Given the description of an element on the screen output the (x, y) to click on. 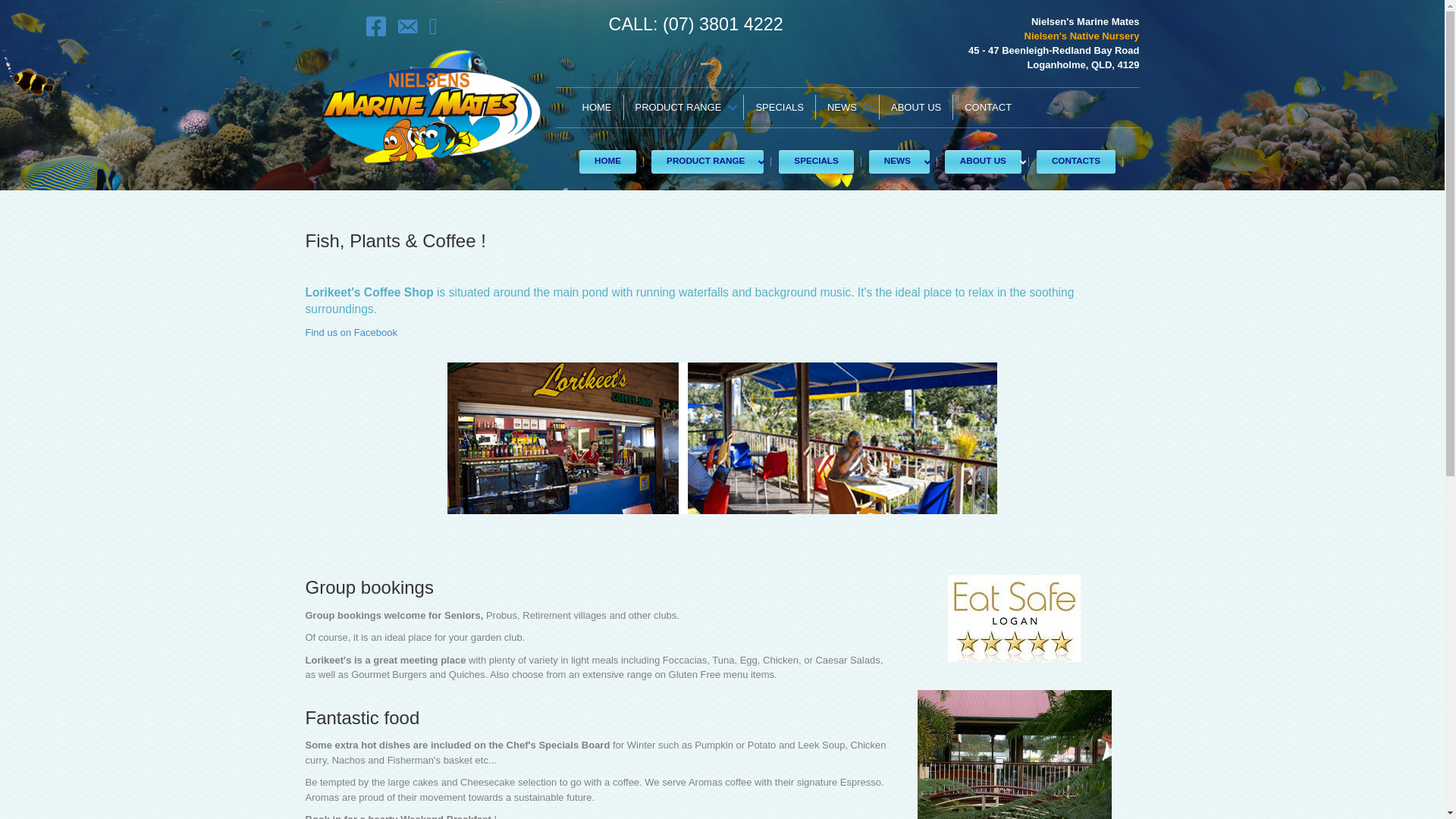
Nielsen's Native Nursery Element type: text (1081, 35)
eat_safe_logan Element type: hover (1013, 618)
PRODUCT RANGE Element type: text (707, 161)
HOME Element type: text (596, 106)
NEWS Element type: text (899, 161)
NEWS Element type: text (846, 106)
Find us on Facebook Element type: text (350, 332)
HOME Element type: text (607, 161)
CONTACT Element type: text (987, 106)
ABOUT US Element type: text (982, 161)
logo Element type: hover (430, 115)
ABOUT US Element type: text (915, 106)
loikeets_montage Element type: hover (722, 438)
PRODUCT RANGE Element type: text (683, 106)
CONTACTS Element type: text (1075, 161)
SPECIALS Element type: text (815, 161)
SPECIALS Element type: text (779, 106)
